Given the description of an element on the screen output the (x, y) to click on. 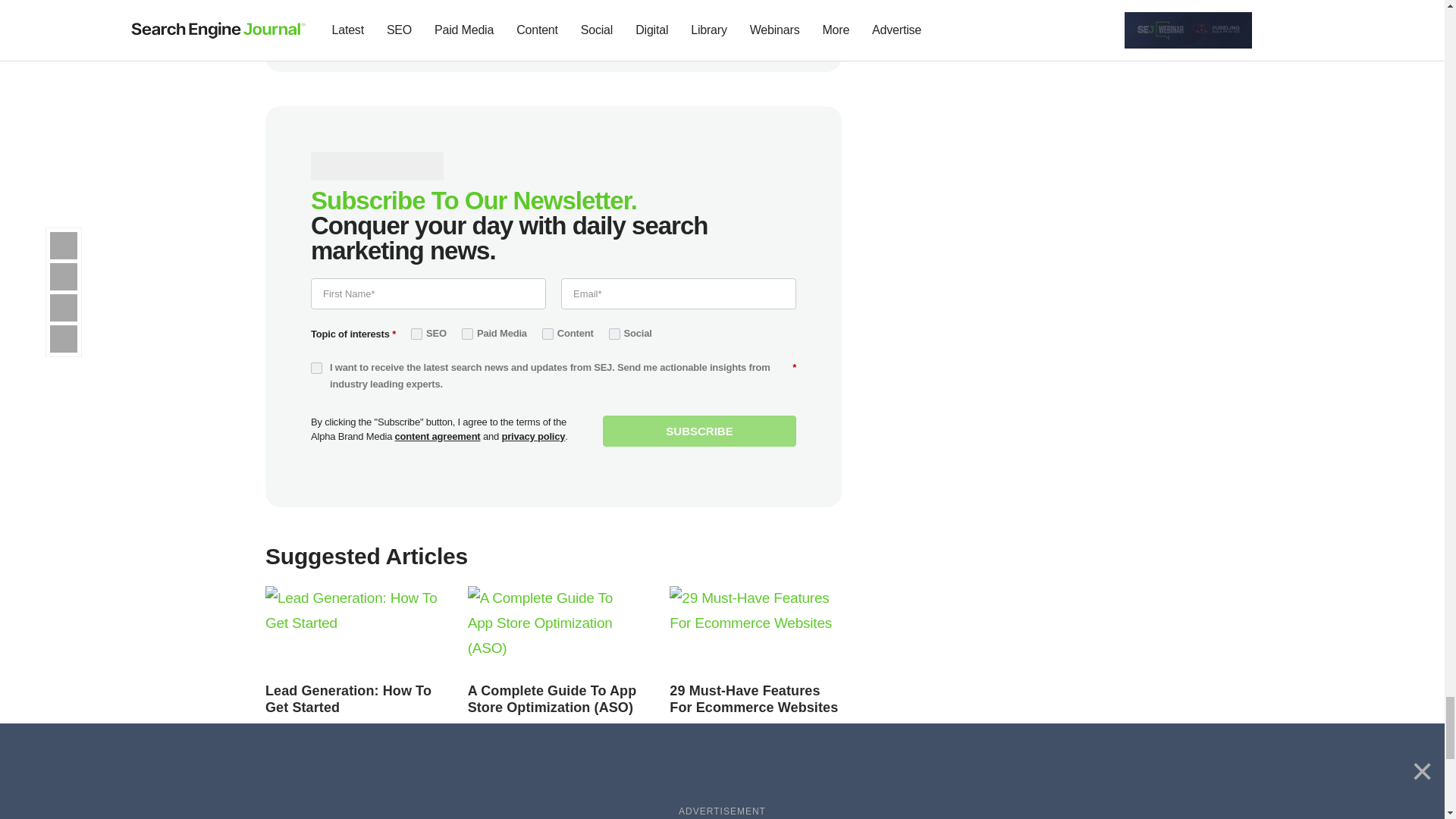
Read the Article (552, 698)
Read the Article (351, 630)
Read the Article (755, 630)
Read the Article (753, 698)
Read the Article (553, 630)
Read the Article (347, 698)
